Given the description of an element on the screen output the (x, y) to click on. 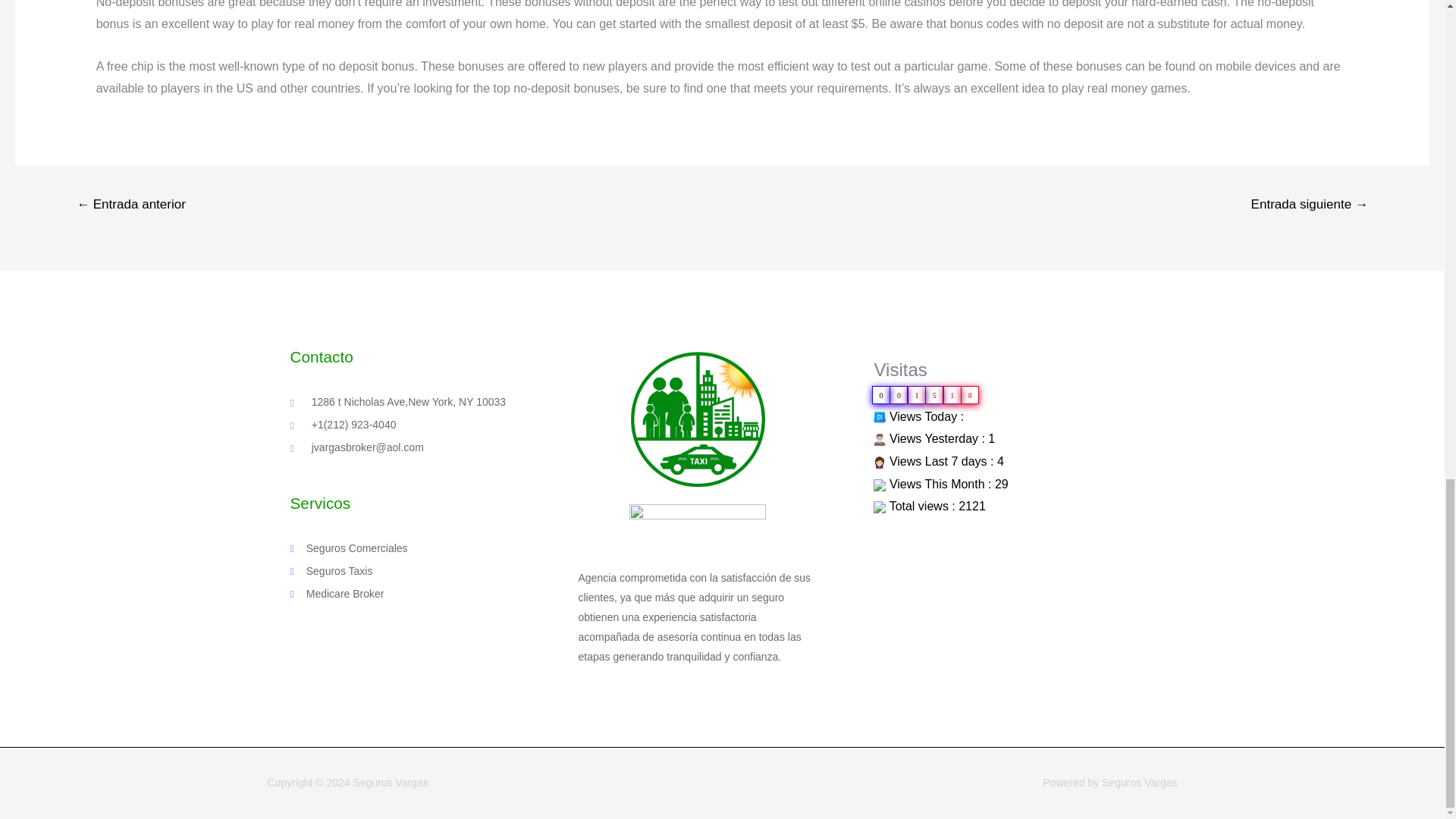
Seguros Taxis (433, 571)
Medicare Broker (433, 594)
Seguros Comerciales (433, 548)
